Given the description of an element on the screen output the (x, y) to click on. 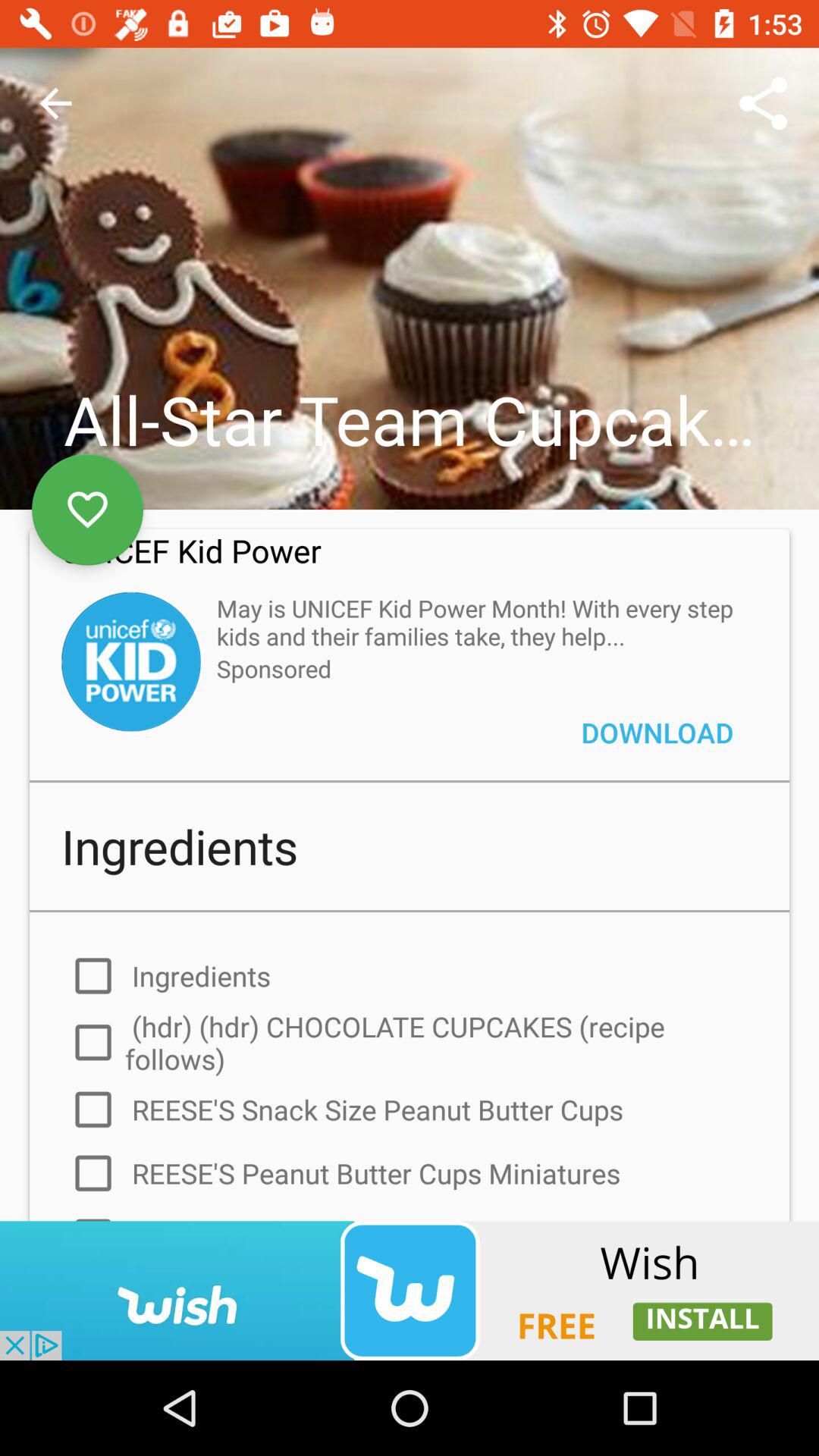
download kid power (130, 661)
